Given the description of an element on the screen output the (x, y) to click on. 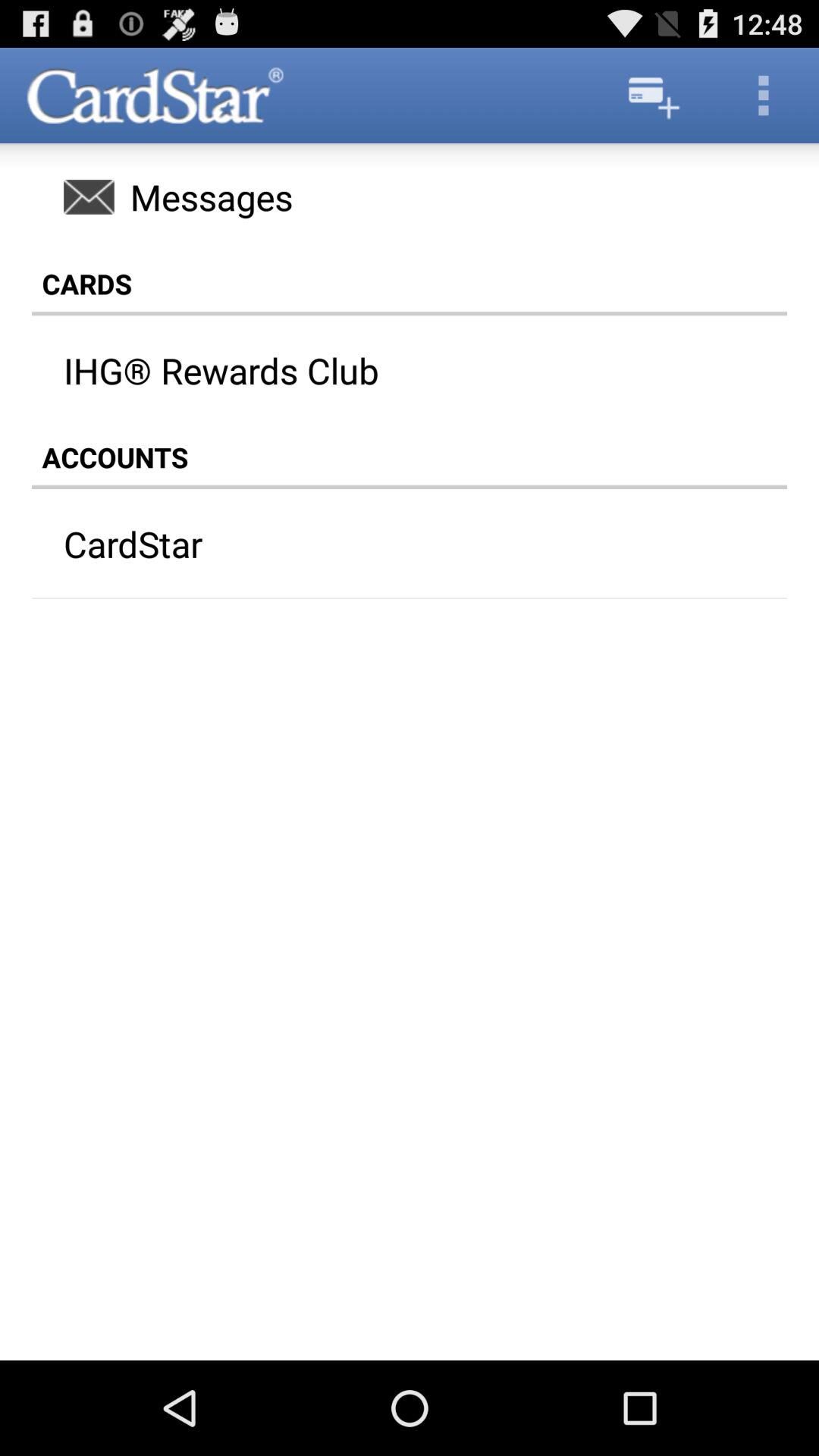
press the accounts (409, 457)
